Given the description of an element on the screen output the (x, y) to click on. 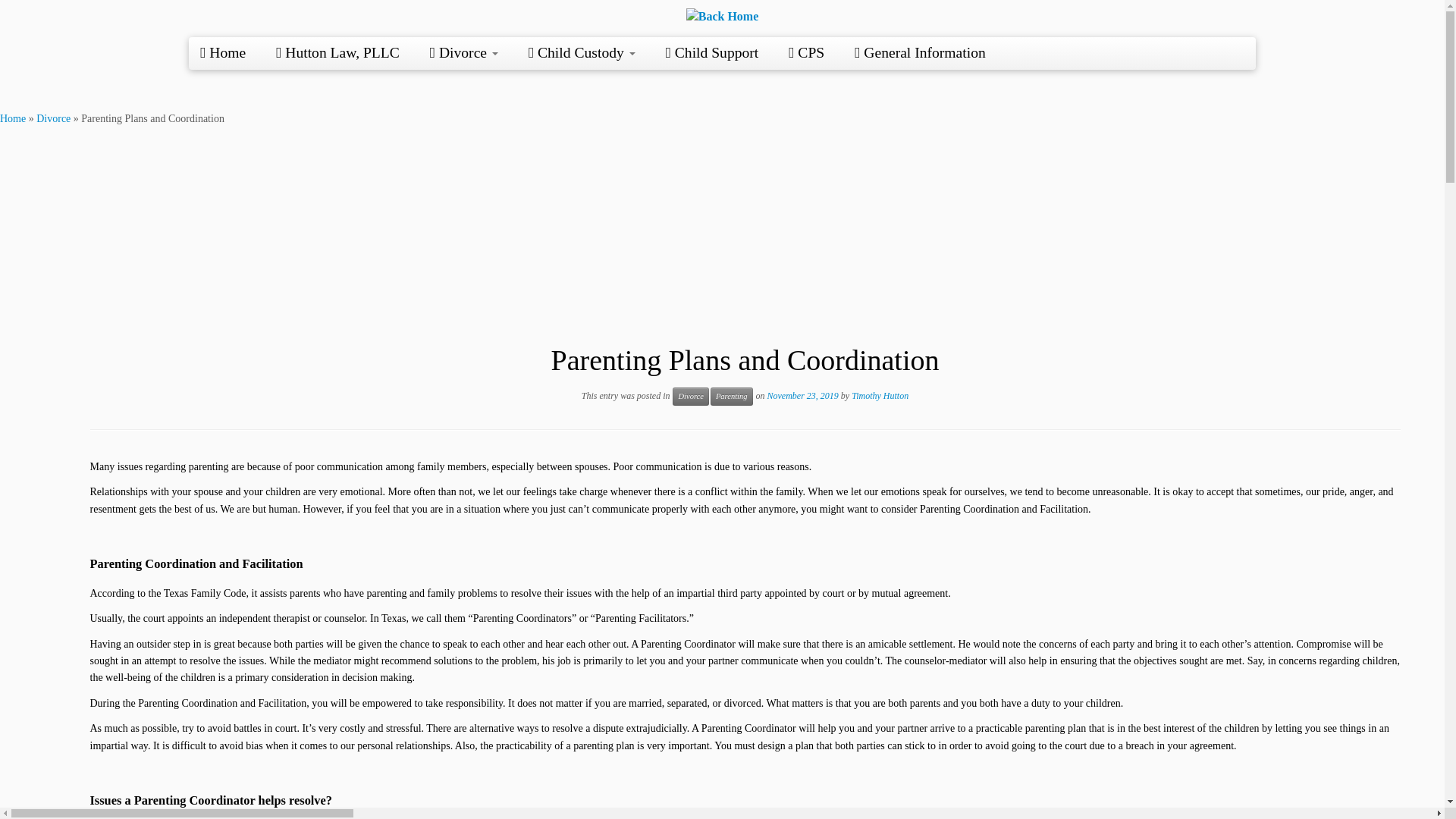
General Information (920, 51)
Divorce (463, 51)
7:21 am (802, 394)
Timothy Hutton (879, 394)
Divorce (689, 396)
View all posts by Timothy Hutton (879, 394)
Child Support (712, 51)
Home (13, 118)
Texas Divorce and Family Law Blog (13, 118)
View all posts in Divorce (689, 396)
View all posts in Parenting (731, 396)
Hutton Law, PLLC (337, 51)
Child Custody (581, 51)
CPS (806, 51)
Parenting (731, 396)
